Given the description of an element on the screen output the (x, y) to click on. 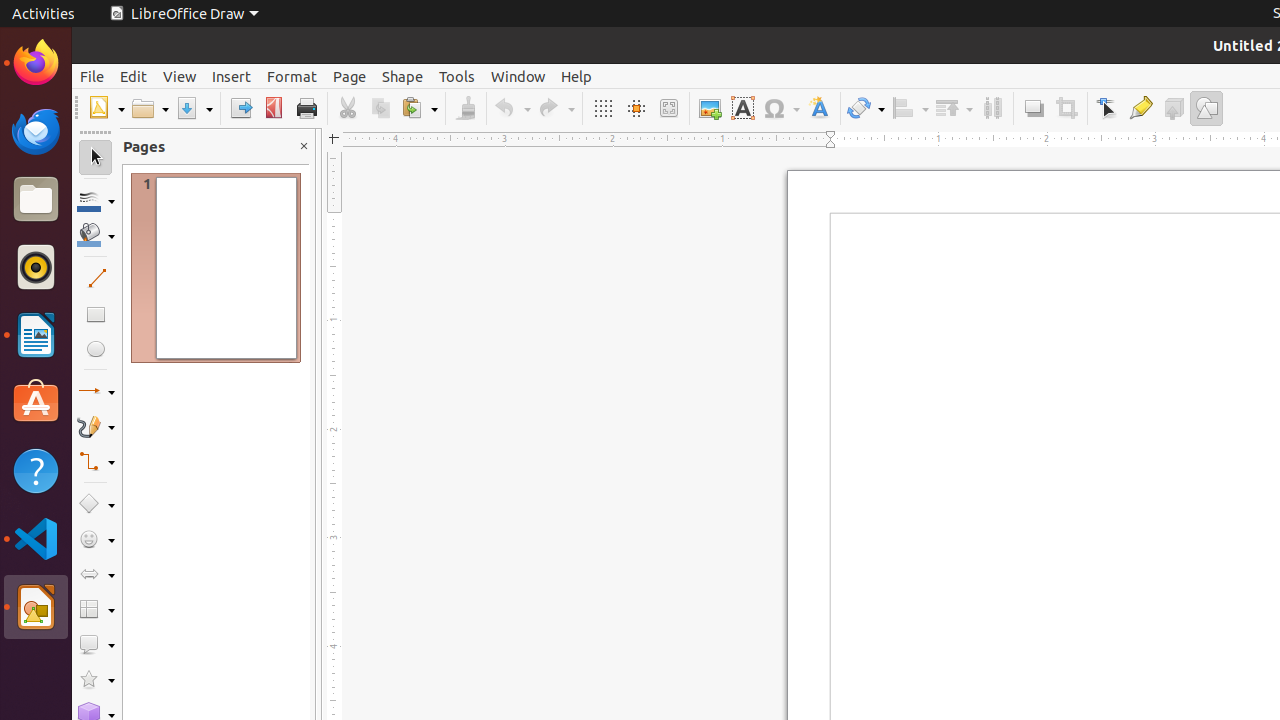
Edit Element type: menu (133, 76)
Ubuntu Software Element type: push-button (36, 402)
Shadow Element type: toggle-button (1033, 108)
Zoom & Pan Element type: push-button (668, 108)
Page Element type: menu (349, 76)
